Given the description of an element on the screen output the (x, y) to click on. 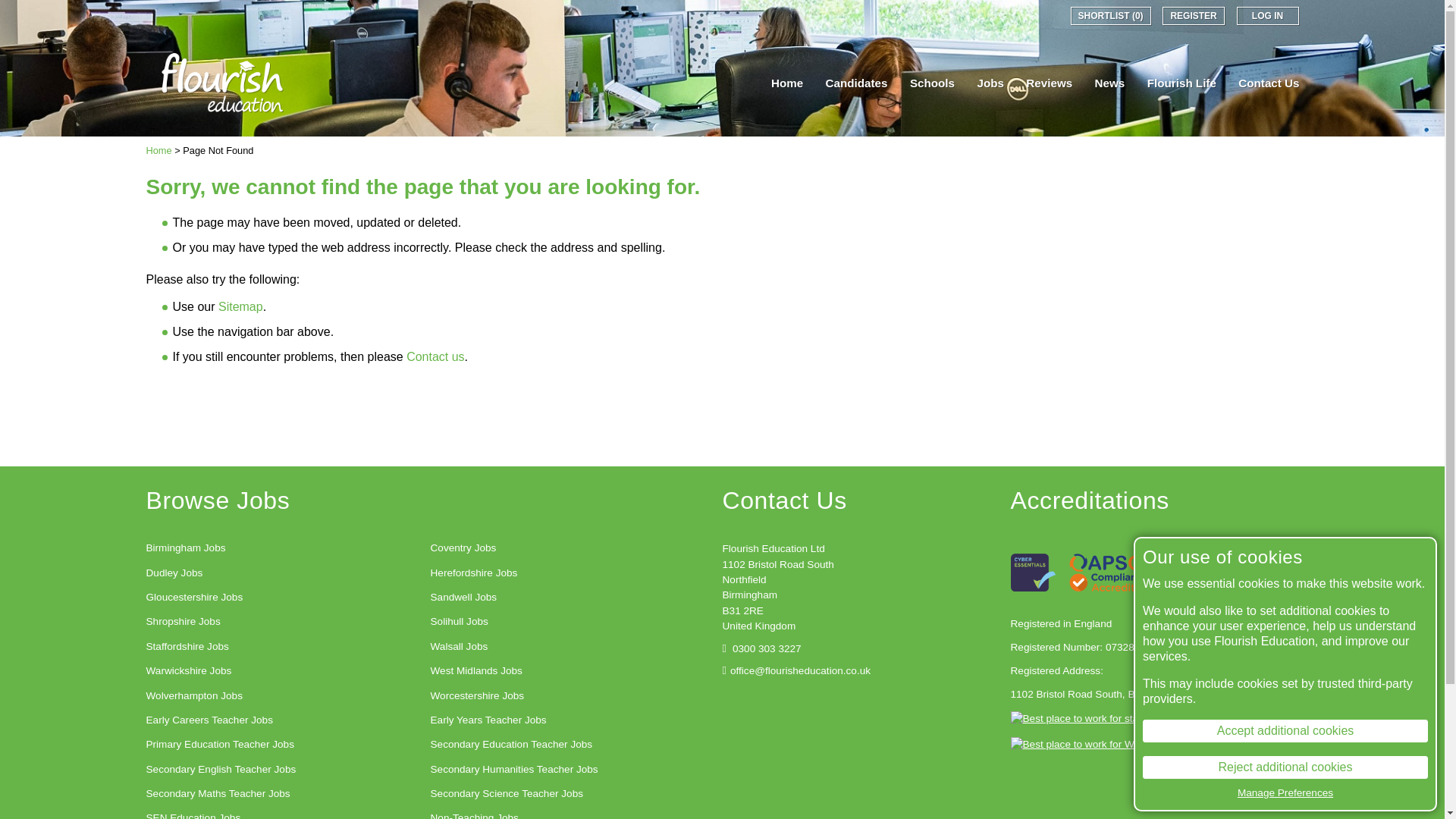
Worcestershire Jobs (477, 695)
Home (158, 150)
West Midlands Jobs (476, 670)
Contact Us (1268, 83)
News (1109, 83)
Sitemap (240, 306)
Dudley Jobs (173, 572)
FOLLOW US ON INSTAGRAM (1013, 15)
West Midlands Jobs (476, 670)
Follow us on Facebook (991, 15)
Jobs (989, 83)
REGISTER (1192, 15)
Shropshire Jobs (182, 621)
Solihull Jobs (458, 621)
Herefordshire Jobs (474, 572)
